Given the description of an element on the screen output the (x, y) to click on. 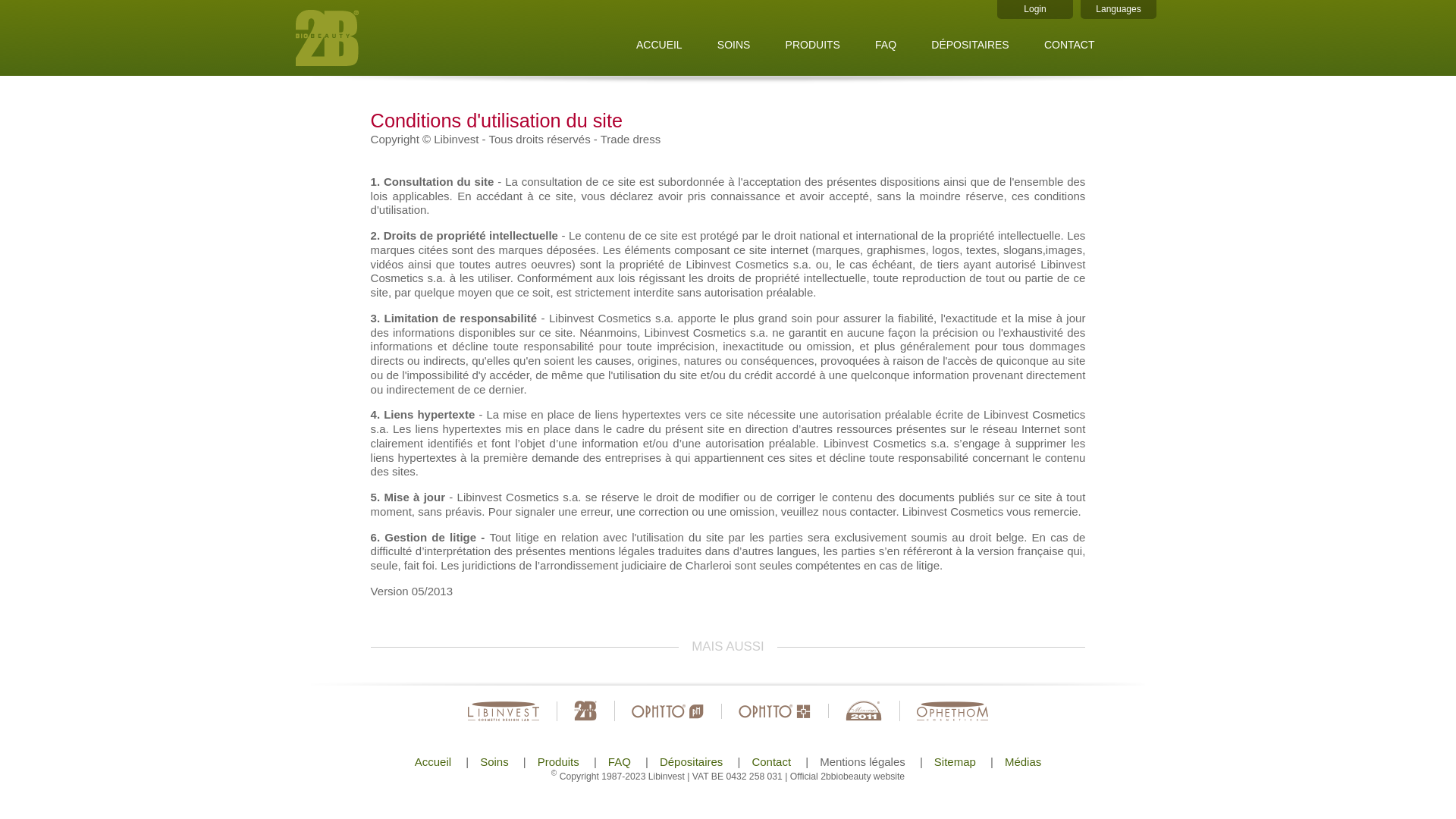
2bbiobeauty.com Element type: text (390, 37)
Contact Element type: text (771, 761)
ACCUEIL Element type: text (659, 44)
FAQ Element type: text (619, 761)
CONTACT Element type: text (1069, 44)
Accueil Element type: text (432, 761)
Produits Element type: text (557, 761)
Soins Element type: text (494, 761)
Languages Element type: text (1118, 9)
Login Element type: text (1035, 9)
PRODUITS Element type: text (812, 44)
FAQ Element type: text (885, 44)
Sitemap Element type: text (954, 761)
SOINS Element type: text (733, 44)
